Given the description of an element on the screen output the (x, y) to click on. 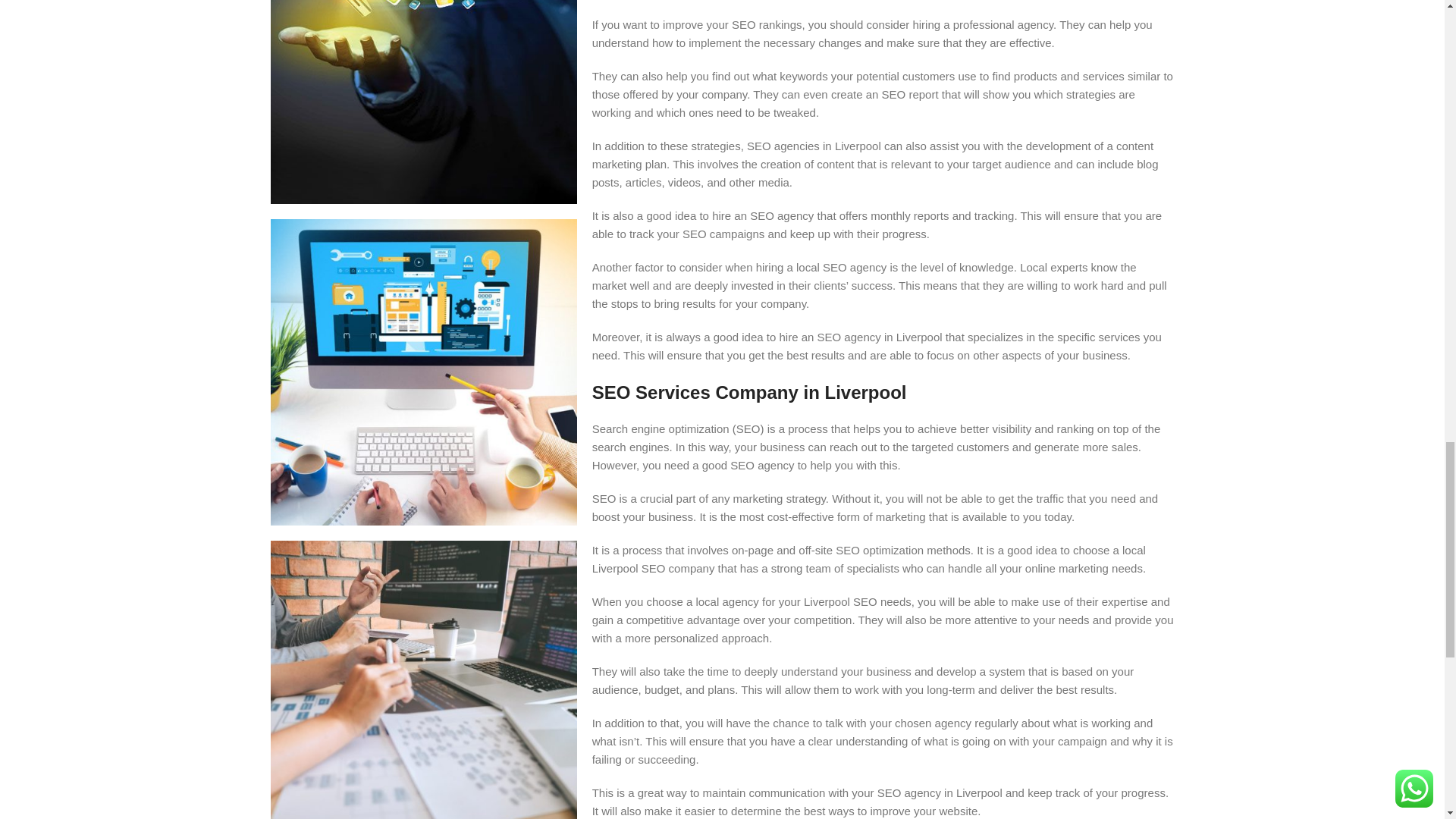
Website-development-company-scaled (422, 679)
rozr (422, 372)
